Given the description of an element on the screen output the (x, y) to click on. 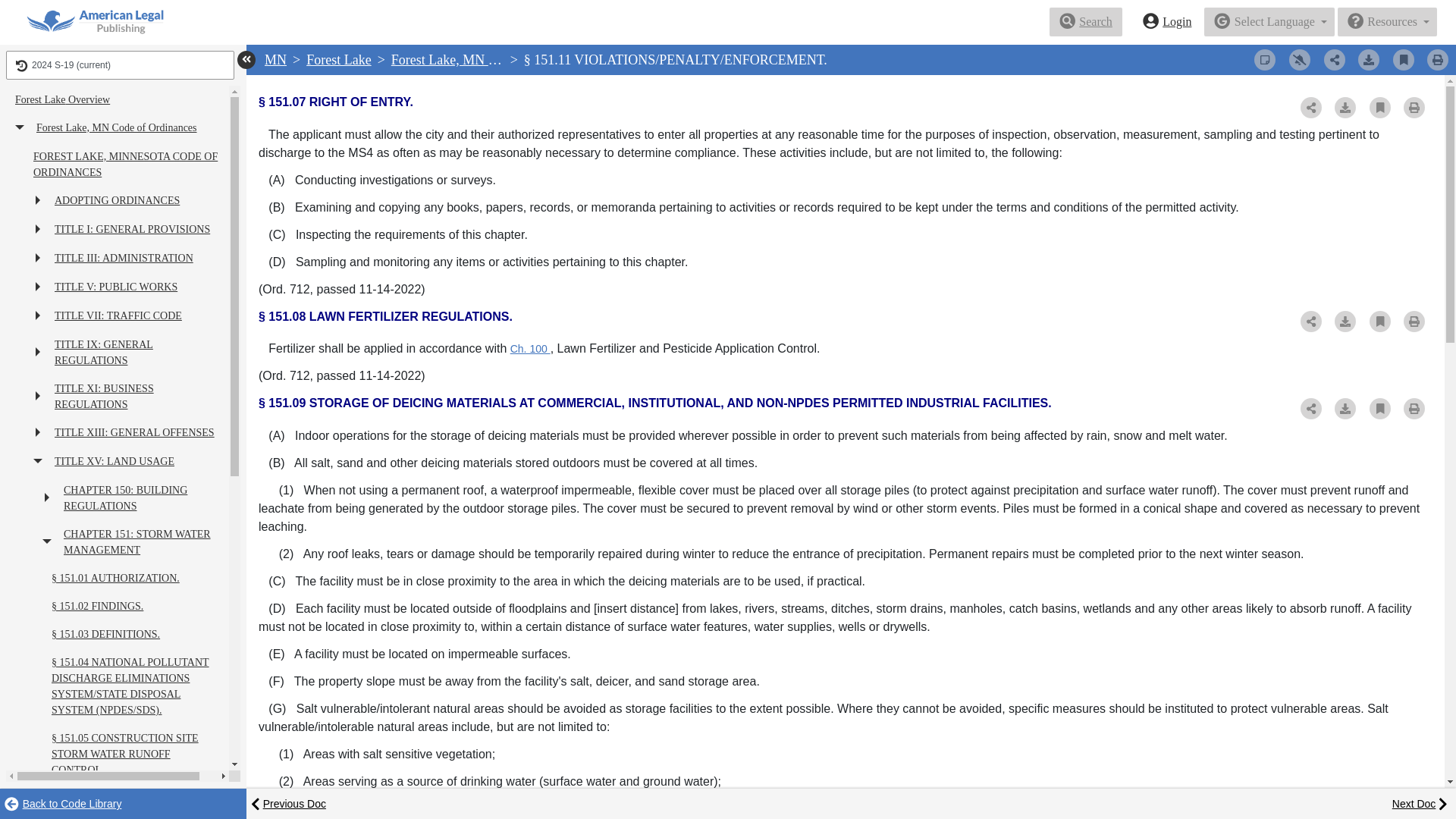
2024 S-19 (119, 64)
Share (1334, 59)
Forest Lake, MN Code of Ordinances (493, 59)
Bookmark (1403, 59)
Annotations Off (1264, 59)
Search (1085, 21)
Select Language (1269, 21)
Minnesota (275, 59)
Print (1437, 59)
Login (1167, 21)
